Given the description of an element on the screen output the (x, y) to click on. 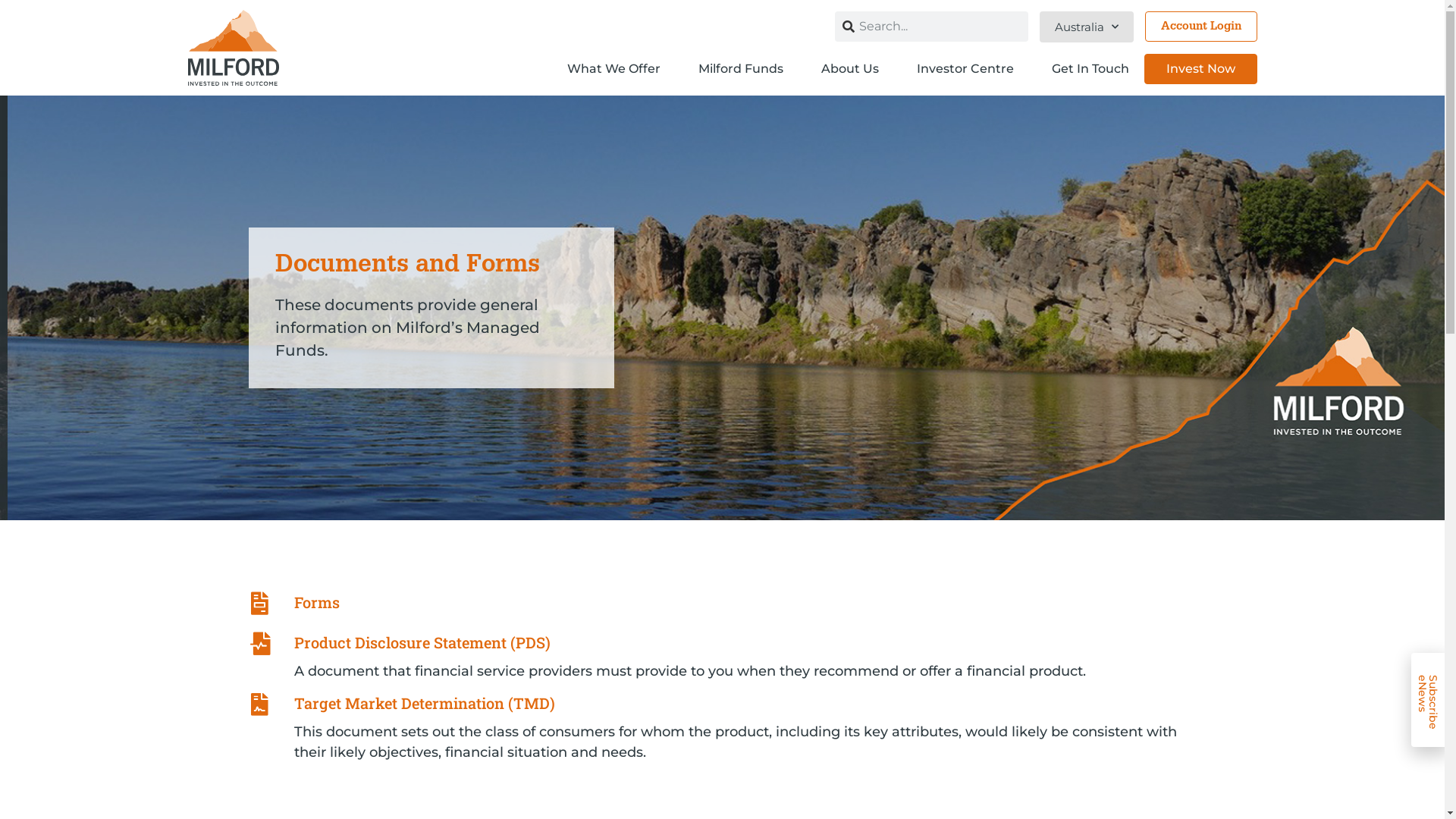
Forms Element type: text (316, 601)
Milford Funds Element type: text (743, 68)
Invest Now Element type: text (1199, 68)
Investor Centre Element type: text (967, 68)
Product Disclosure Statement (PDS) Element type: text (422, 642)
Account Login Element type: text (1201, 26)
Get In Touch Element type: text (1089, 68)
What We Offer Element type: text (617, 68)
Target Market Determination (TMD) Element type: text (424, 702)
About Us Element type: text (852, 68)
Australia Element type: text (1085, 26)
